Given the description of an element on the screen output the (x, y) to click on. 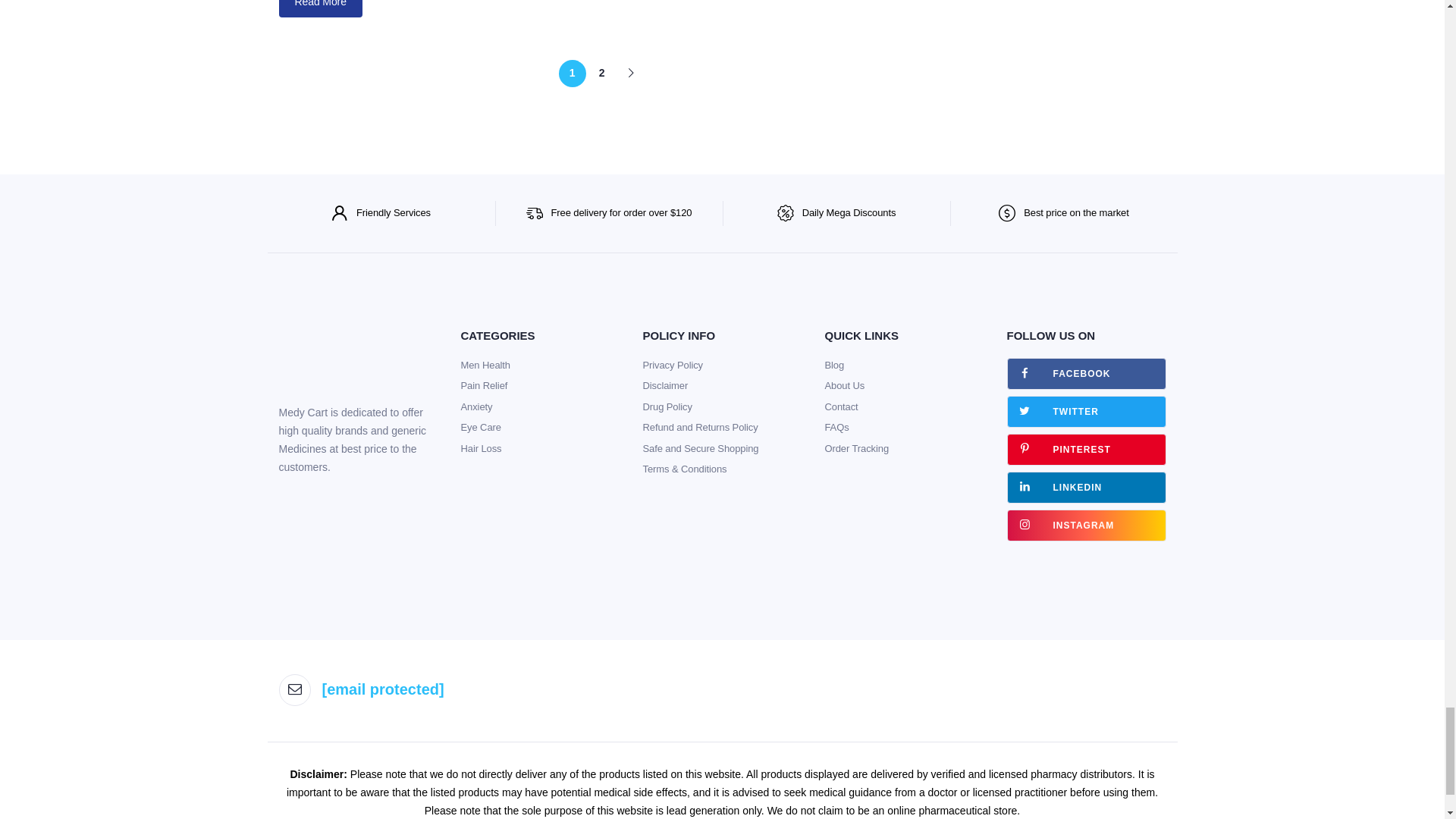
Hair Loss (481, 448)
Pain Relief (484, 385)
Eye Care (480, 427)
Anxiety (477, 406)
Men Health (486, 365)
